Given the description of an element on the screen output the (x, y) to click on. 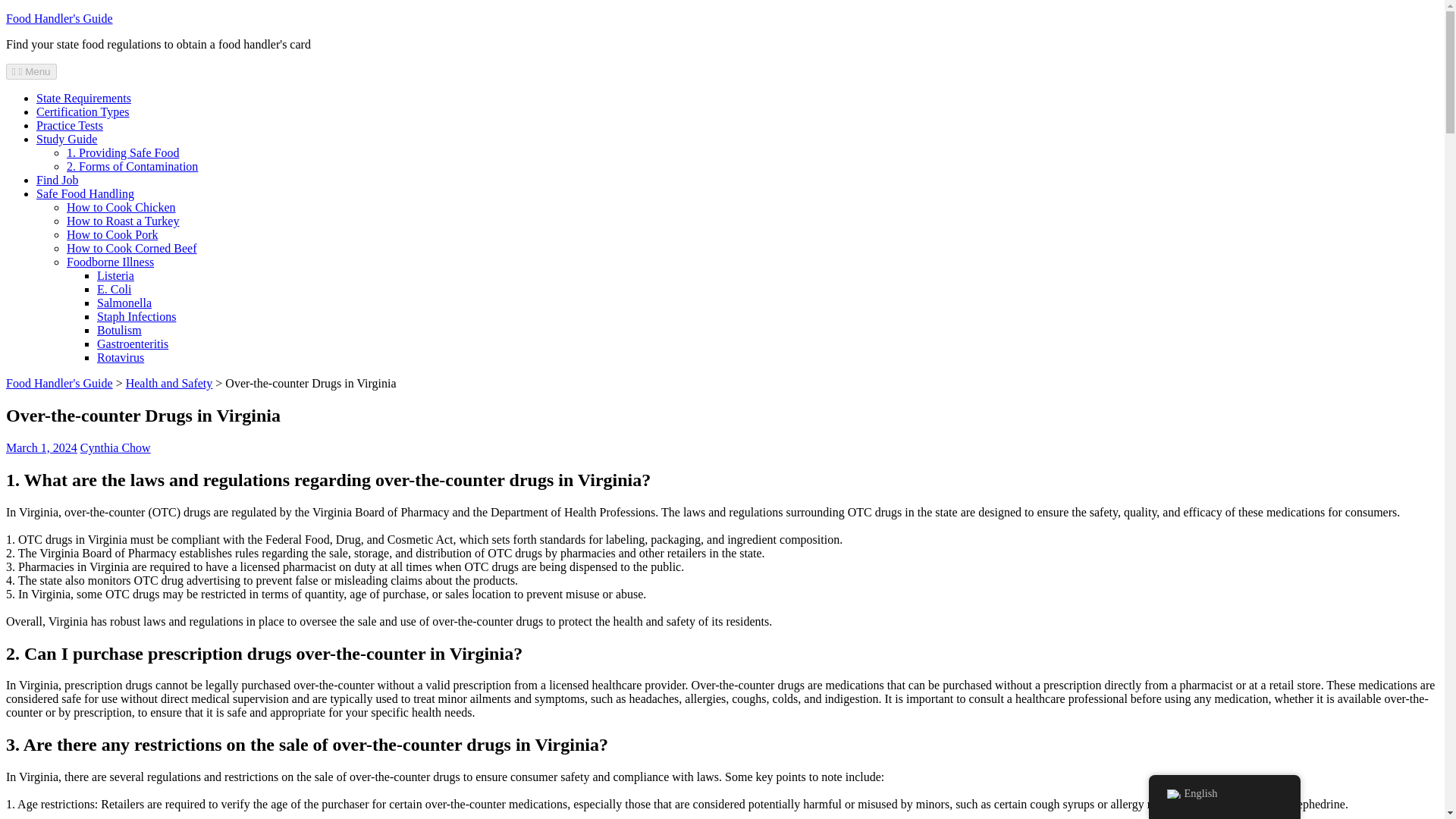
Health and Safety (168, 382)
Salmonella (124, 302)
Staph Infections (136, 316)
Cynthia Chow (115, 447)
State Requirements (83, 97)
Rotavirus (120, 357)
Find Job (57, 179)
How to Roast a Turkey (122, 220)
Foodborne Illness (110, 261)
Gastroenteritis (132, 343)
Food Handler's Guide (59, 382)
Practice Tests (69, 124)
2. Forms of Contamination (132, 165)
How to Cook Pork (111, 234)
